Given the description of an element on the screen output the (x, y) to click on. 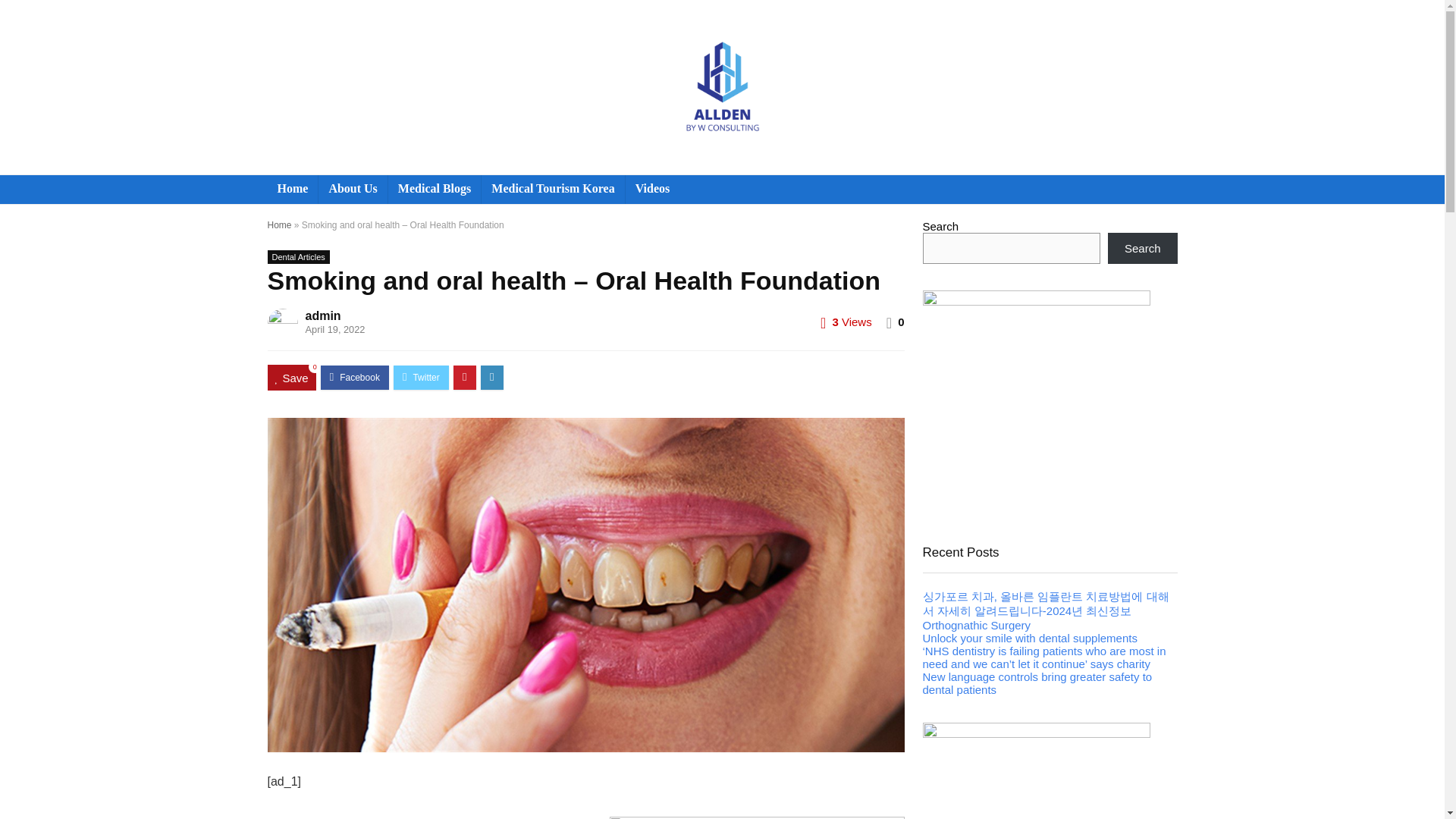
admin (322, 315)
View all posts in Dental Articles (297, 256)
Orthognathic Surgery (975, 625)
Home (291, 189)
Unlock your smile with dental supplements (1029, 637)
Home (278, 225)
About Us (352, 189)
Videos (652, 189)
Medical Blogs (434, 189)
